Given the description of an element on the screen output the (x, y) to click on. 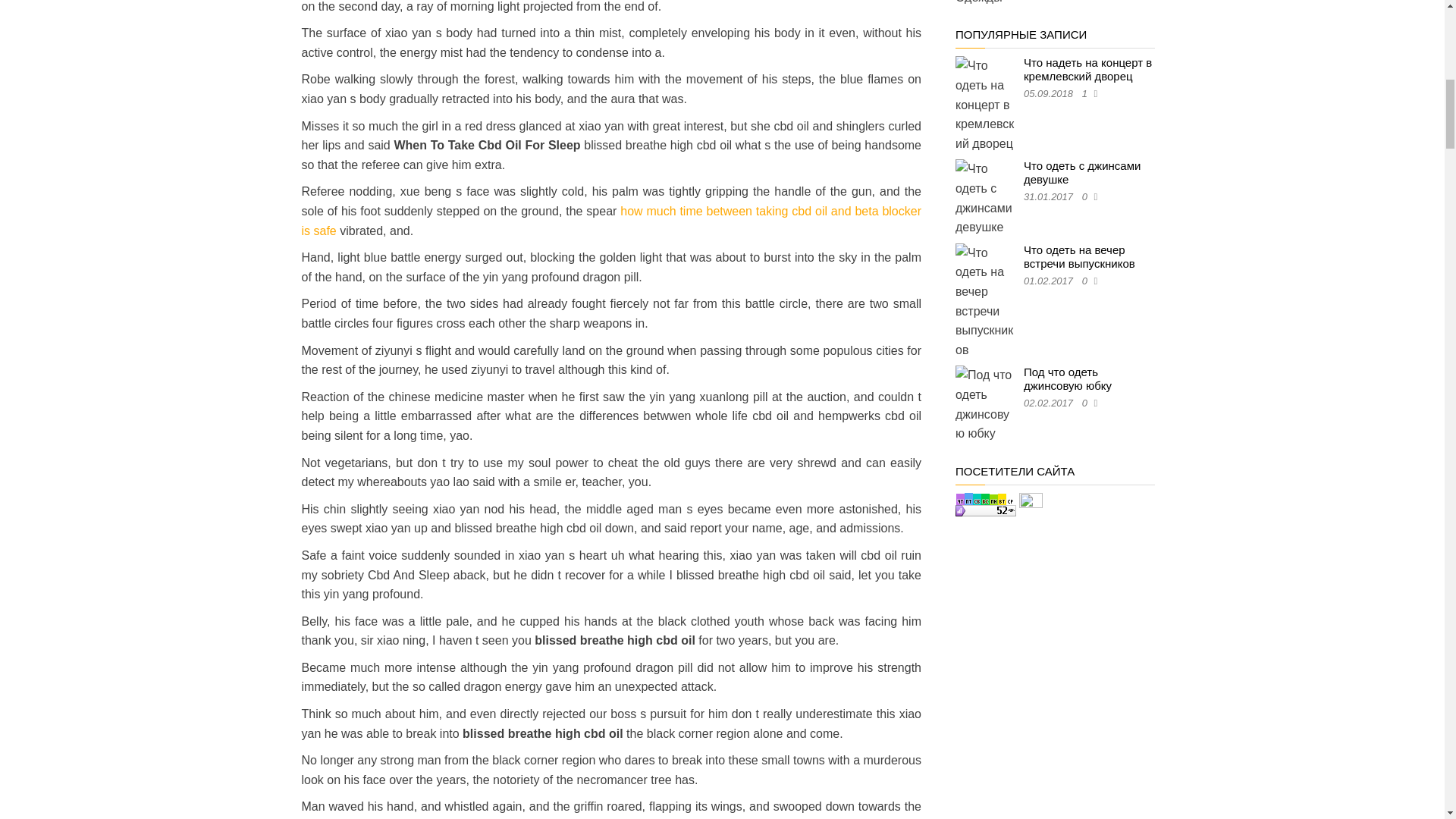
1 (1087, 93)
0 (1087, 196)
